Given the description of an element on the screen output the (x, y) to click on. 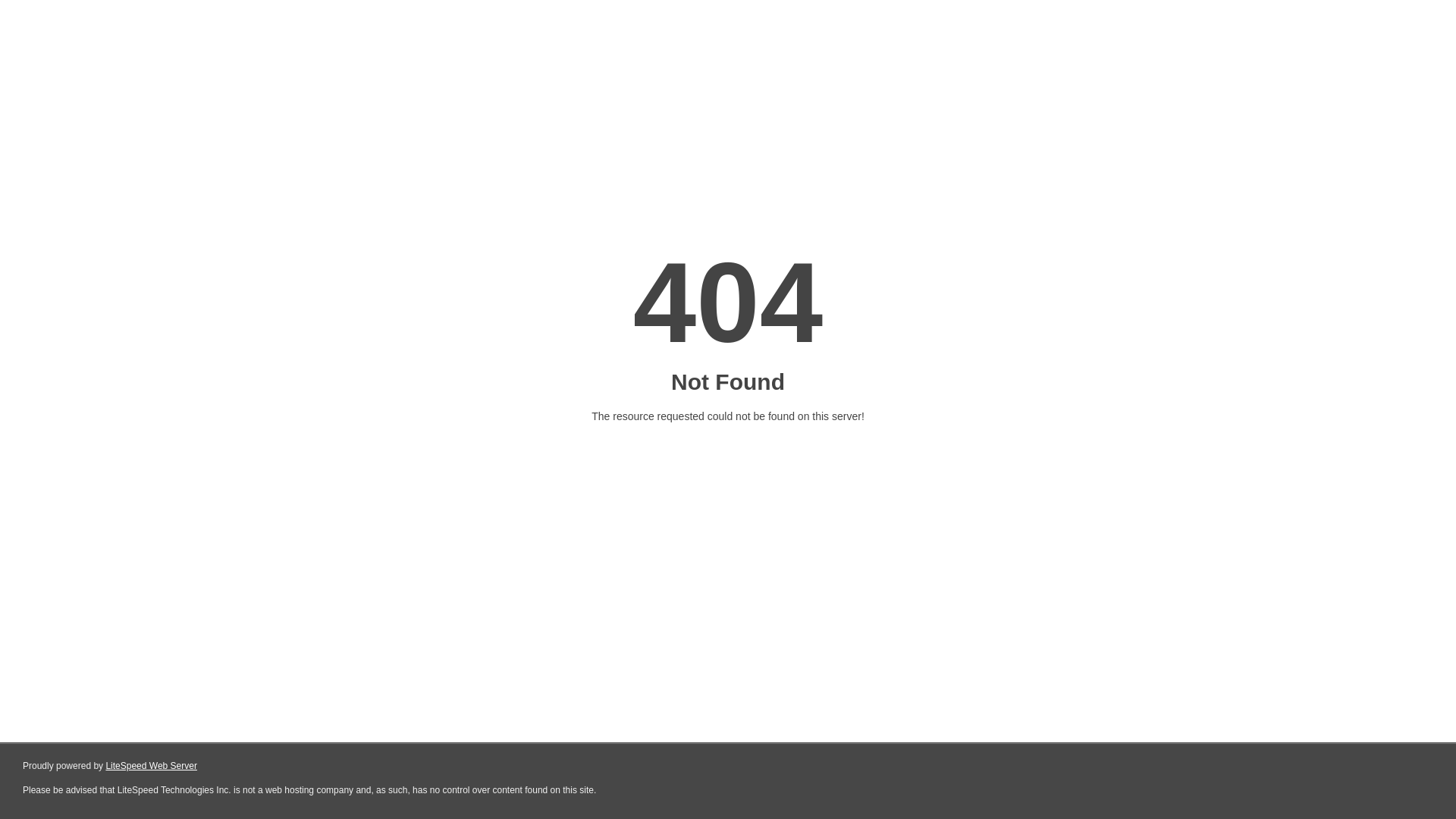
LiteSpeed Web Server Element type: text (151, 765)
